Given the description of an element on the screen output the (x, y) to click on. 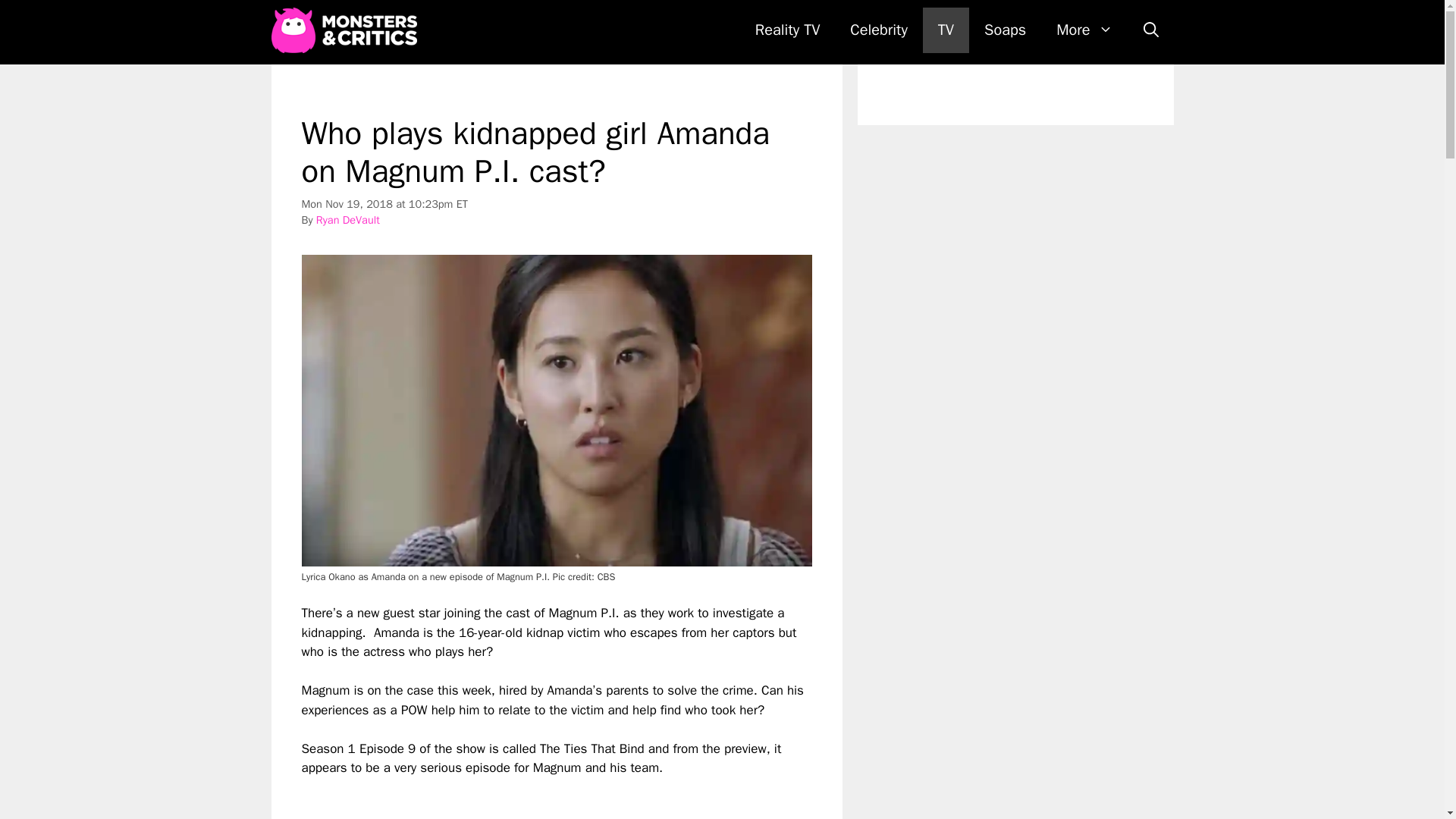
View all posts by Ryan DeVault (347, 219)
TV (946, 30)
Soaps (1005, 30)
Monsters and Critics (347, 30)
Reality TV (787, 30)
Celebrity (877, 30)
More (1083, 30)
Ryan DeVault (347, 219)
Monsters and Critics (343, 30)
YouTube video player (513, 798)
